Given the description of an element on the screen output the (x, y) to click on. 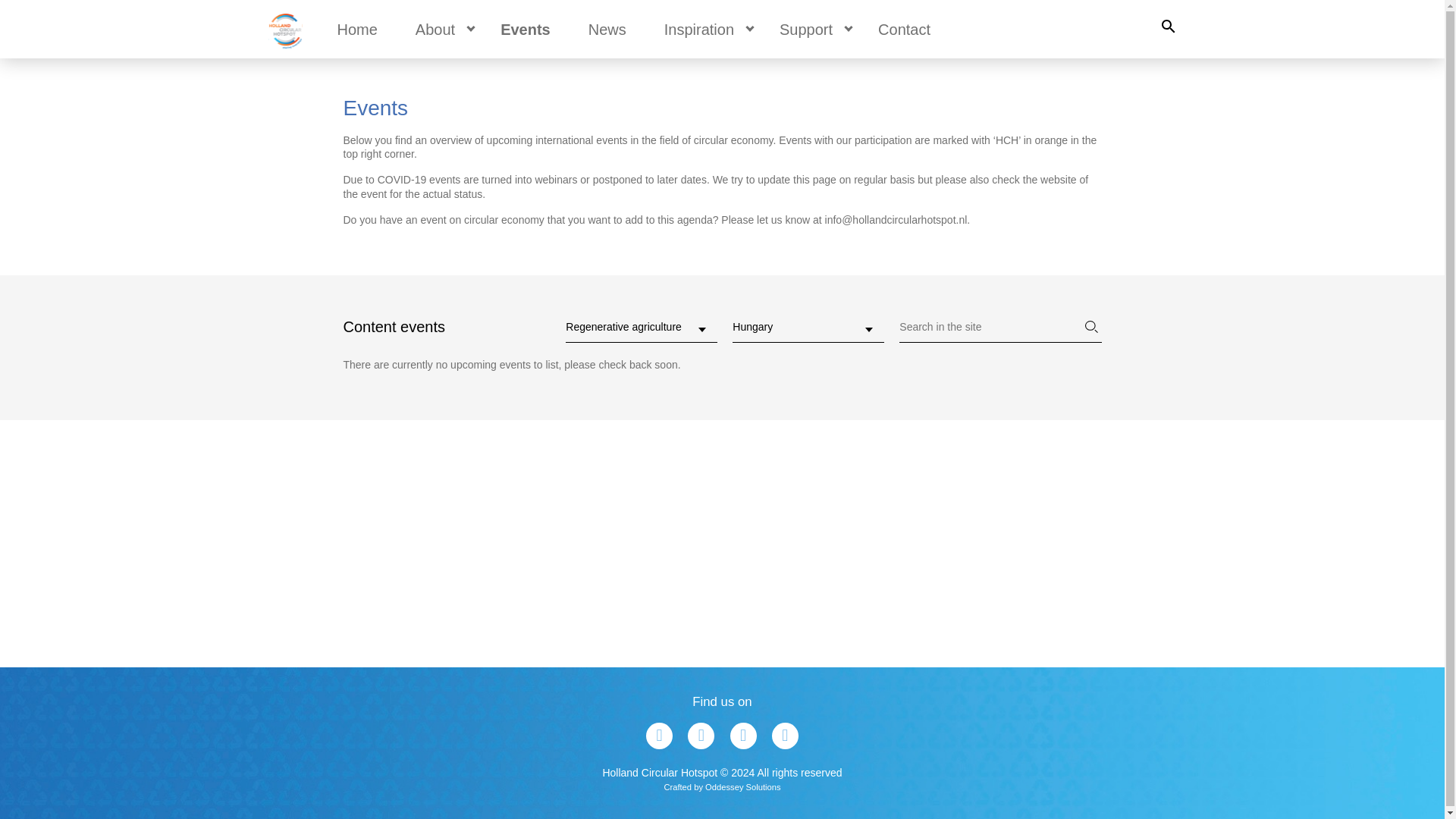
Support (805, 28)
About (435, 28)
News (607, 28)
Home (357, 28)
Search in content (1167, 28)
Go back to home (284, 28)
Events (525, 28)
Contact (904, 28)
Inspiration (698, 28)
